Given the description of an element on the screen output the (x, y) to click on. 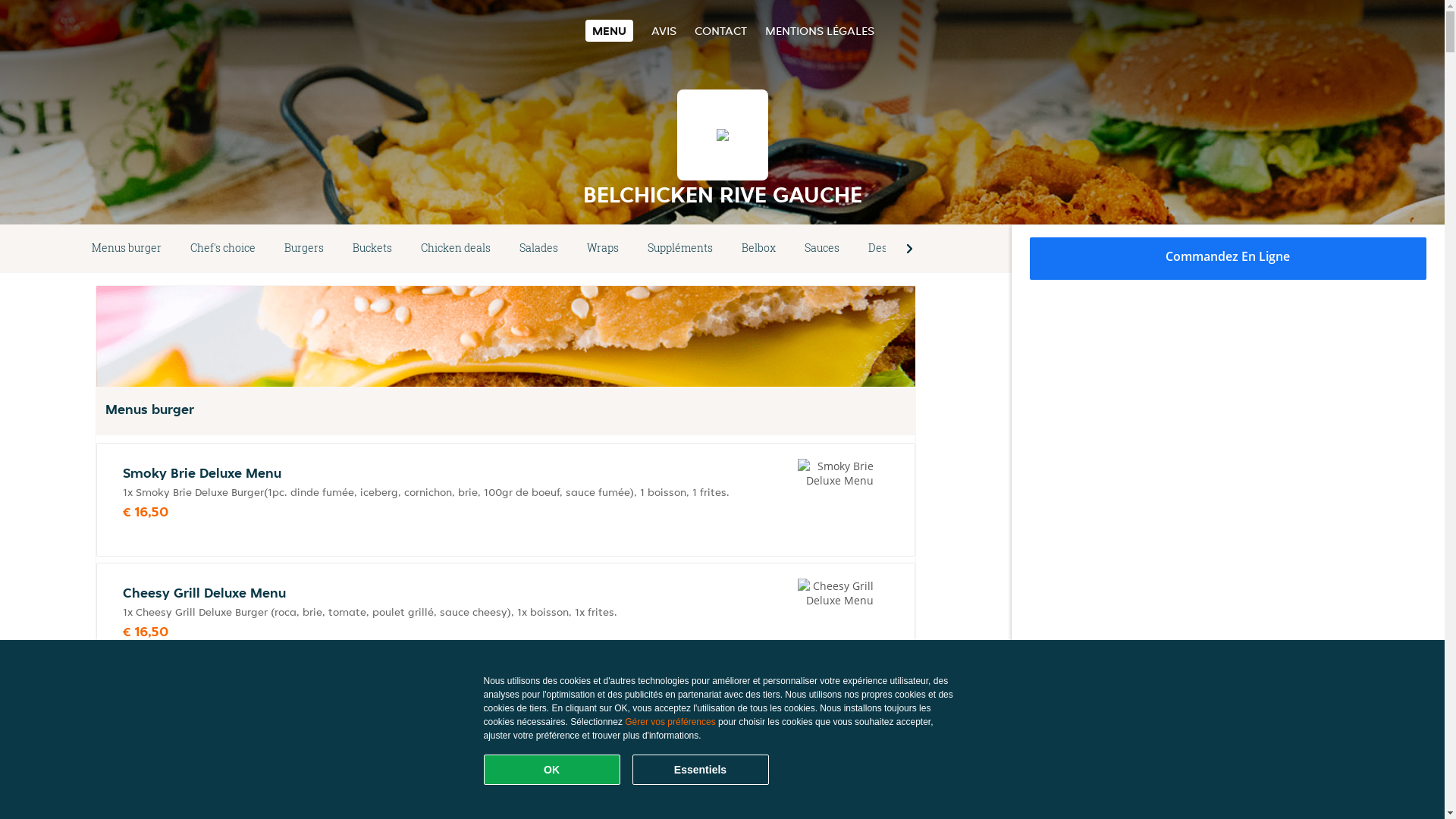
Salades Element type: text (538, 248)
Desserts Element type: text (889, 248)
OK Element type: text (551, 769)
Commandez En Ligne Element type: text (1228, 258)
AVIS Element type: text (663, 30)
Belbox Element type: text (758, 248)
MENU Element type: text (609, 30)
Sauces Element type: text (821, 248)
CONTACT Element type: text (720, 30)
Buckets Element type: text (372, 248)
Menus burger Element type: text (126, 248)
Chef's choice Element type: text (222, 248)
Essentiels Element type: text (700, 769)
Burgers Element type: text (303, 248)
Chicken deals Element type: text (455, 248)
Wraps Element type: text (602, 248)
